Given the description of an element on the screen output the (x, y) to click on. 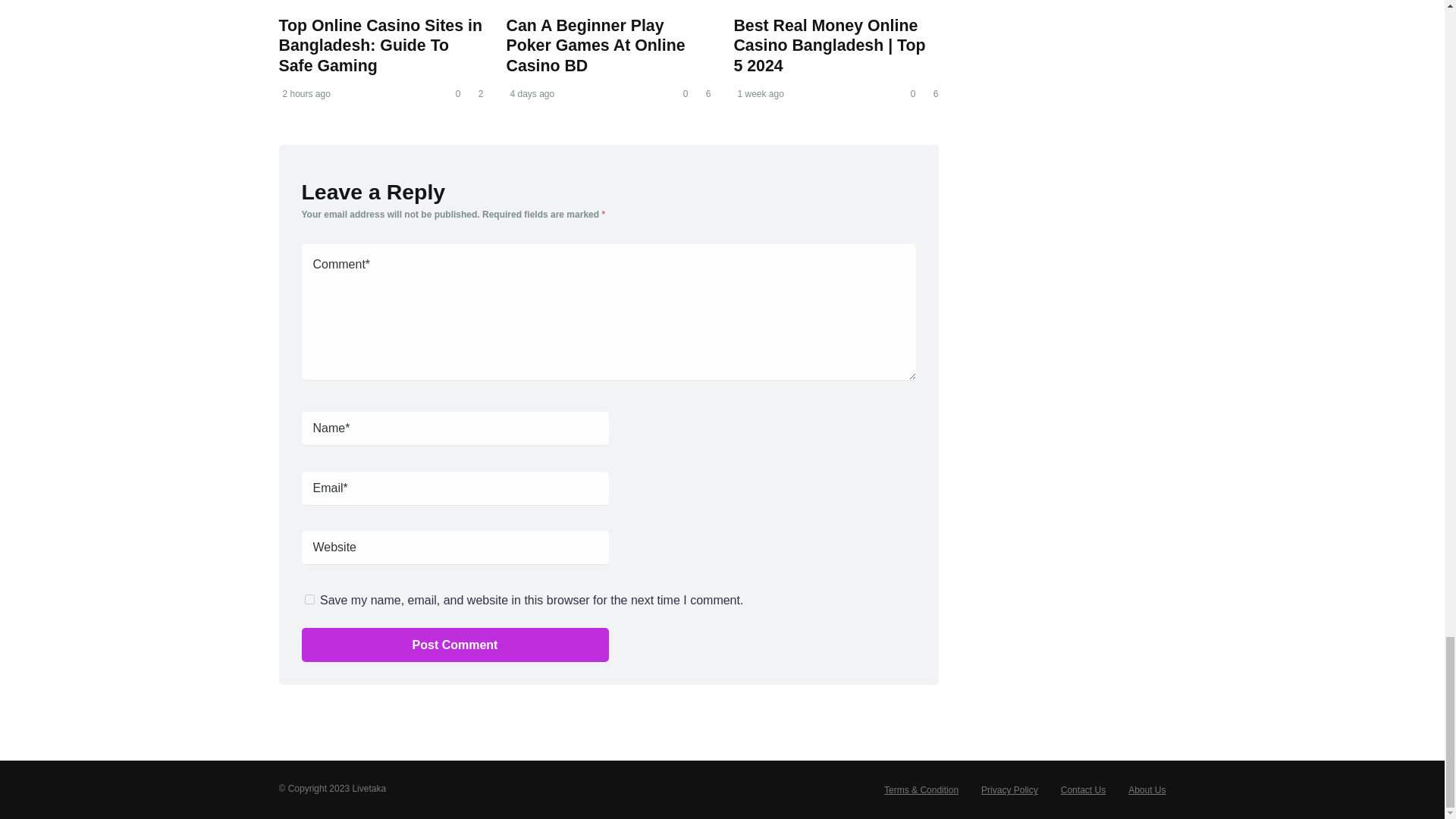
Post Comment (454, 644)
Top Online Casino Sites in Bangladesh: Guide To Safe Gaming (380, 45)
yes (309, 599)
Can A Beginner Play Poker Games At Online Casino BD (594, 45)
